Given the description of an element on the screen output the (x, y) to click on. 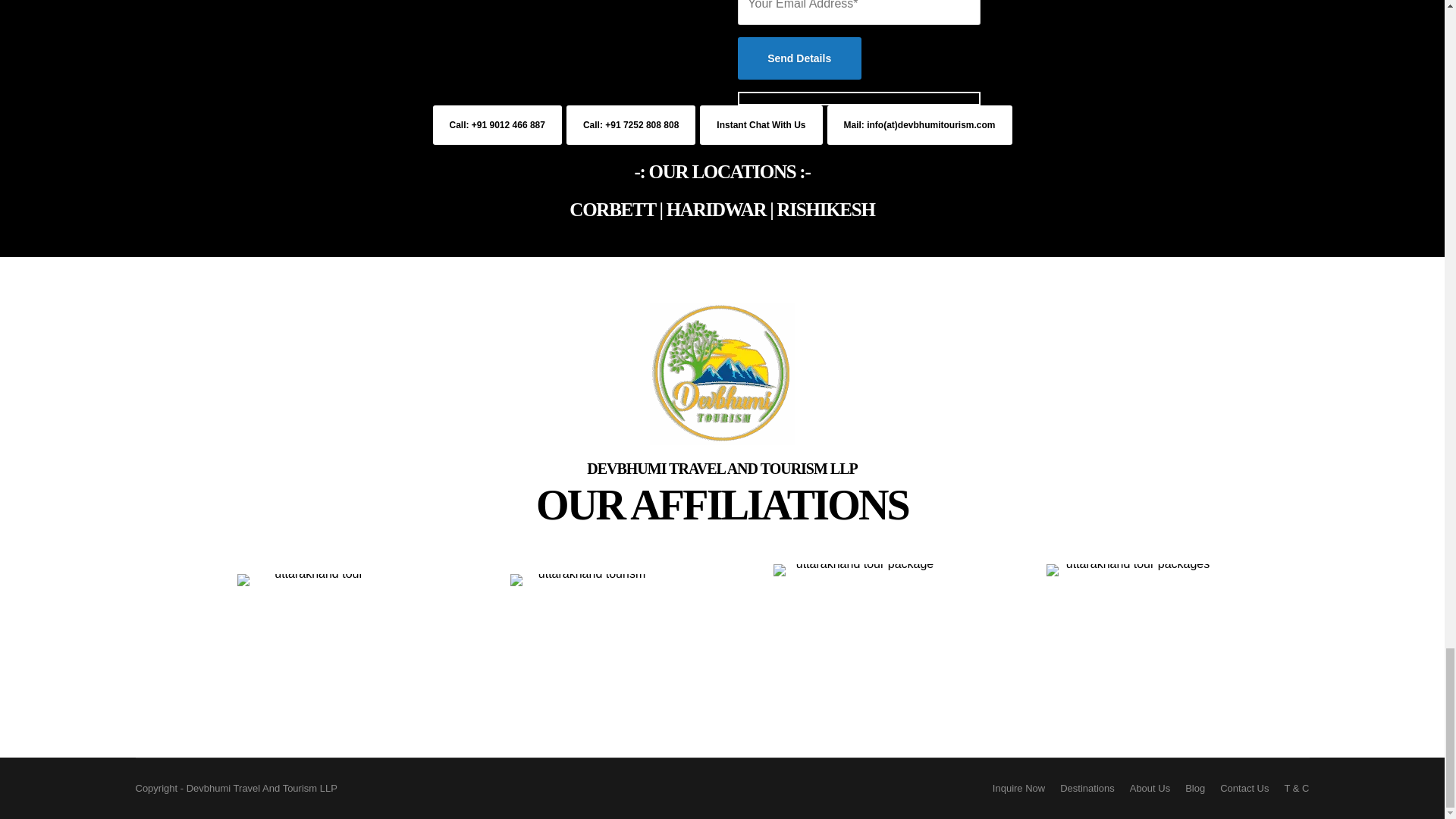
mca (311, 649)
utdb (585, 649)
logo-3d-min (721, 373)
Instant Chat With Us (761, 124)
kmvn (858, 649)
gmvn (1131, 649)
Send Details (798, 57)
